Given the description of an element on the screen output the (x, y) to click on. 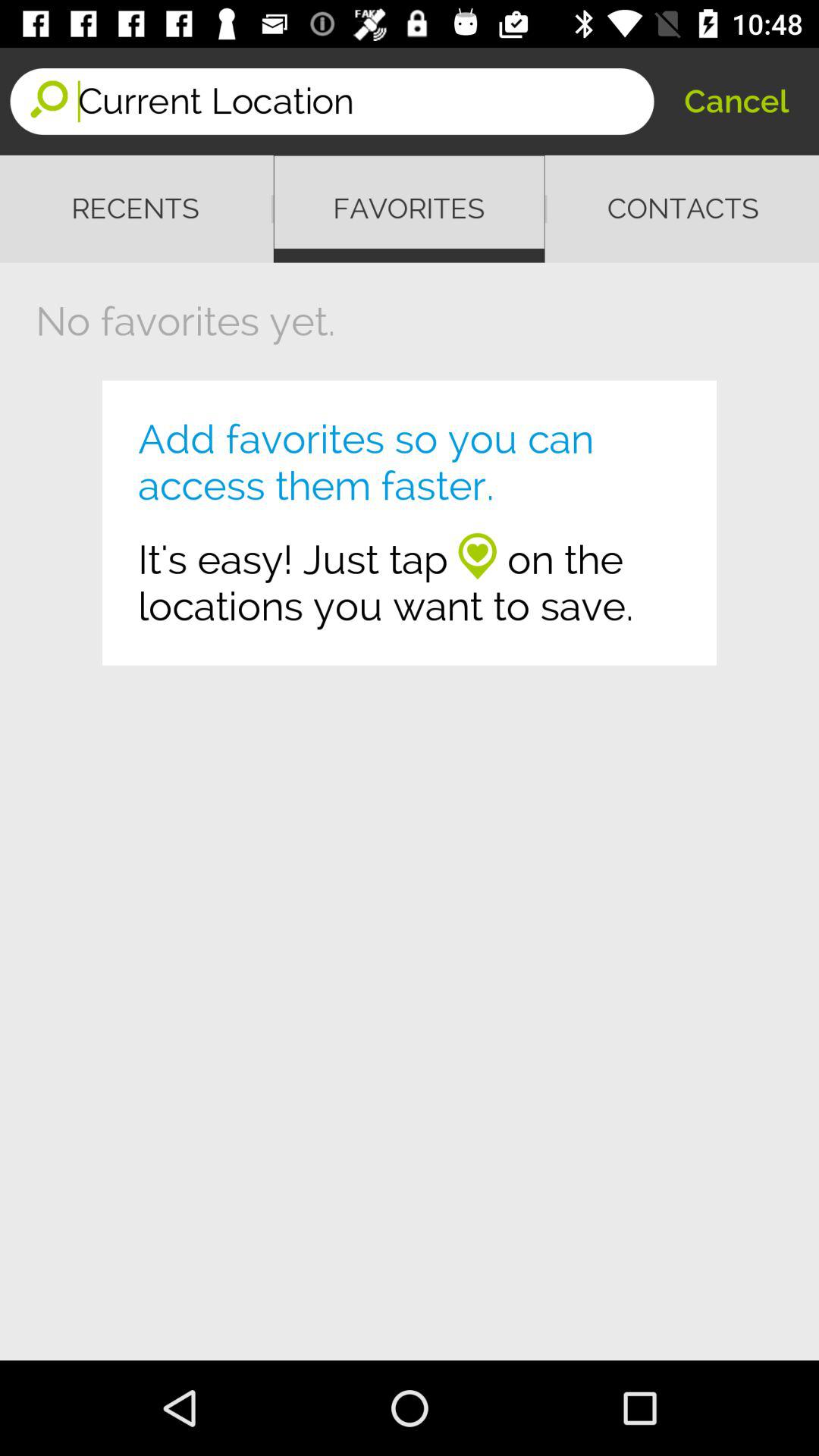
turn off item next to current location (736, 101)
